Given the description of an element on the screen output the (x, y) to click on. 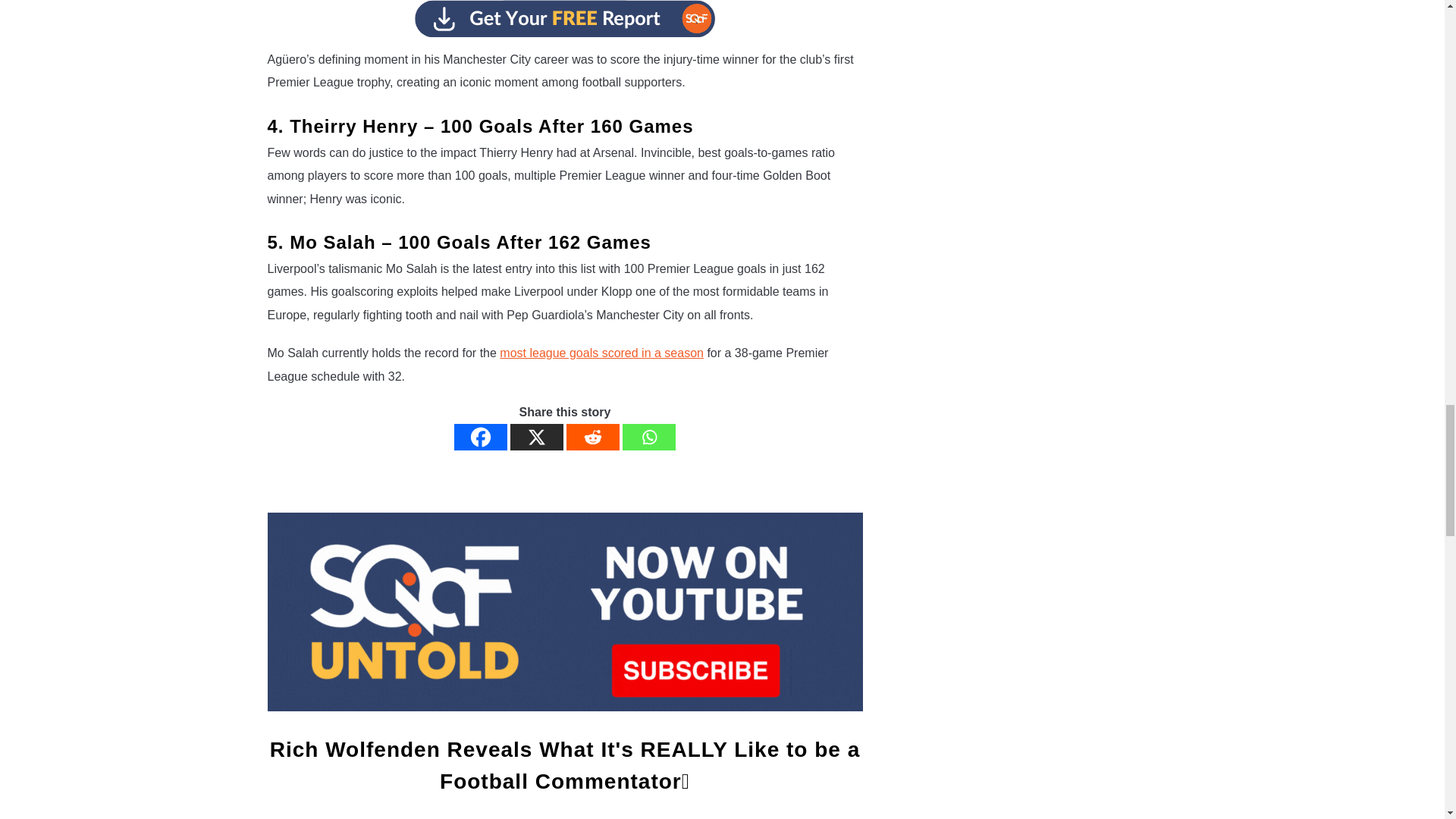
Facebook (480, 437)
most league goals scored in a season (601, 352)
Whatsapp (649, 437)
Reddit (593, 437)
X (537, 437)
